Given the description of an element on the screen output the (x, y) to click on. 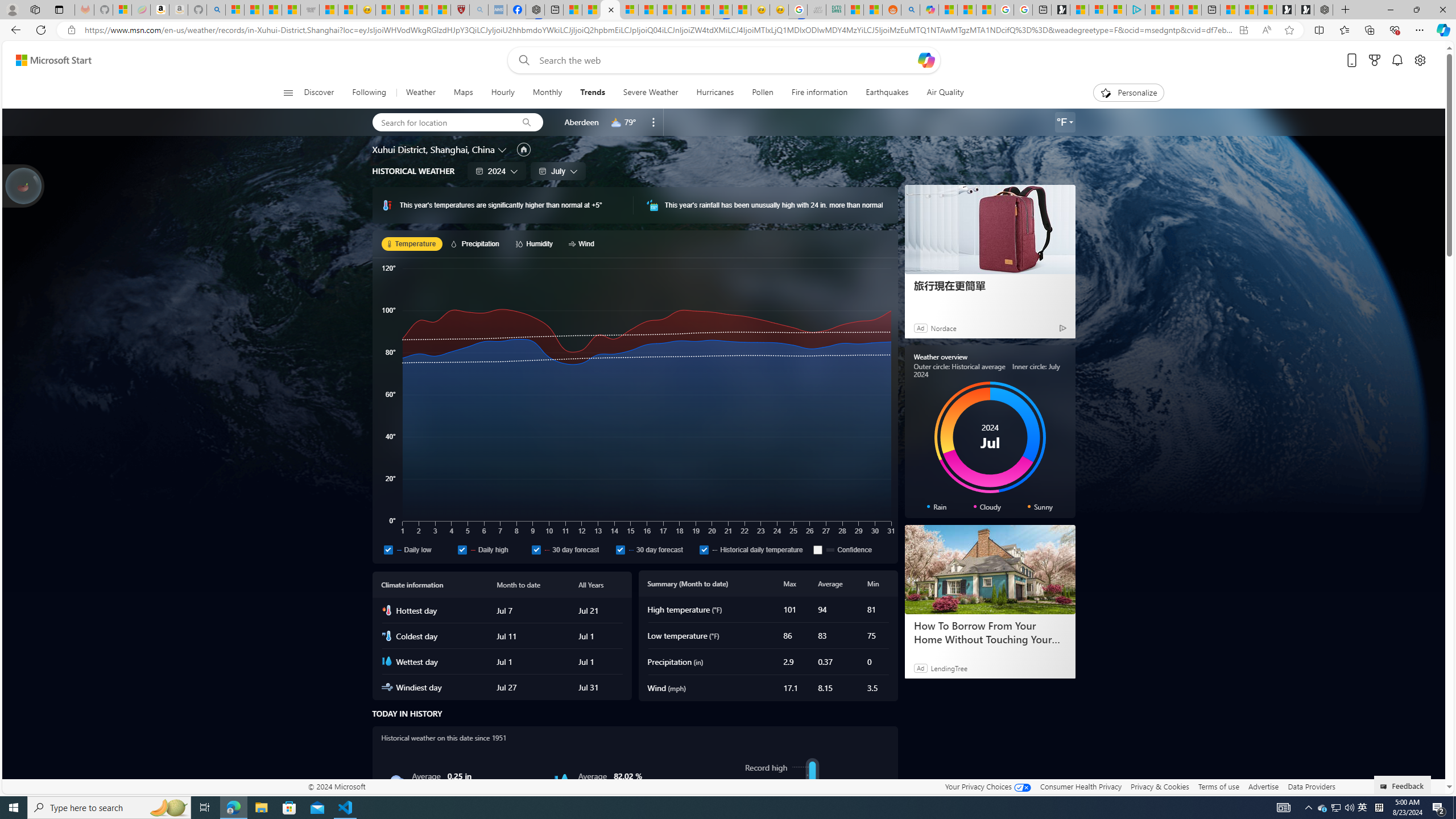
Temperature (411, 243)
Monthly (547, 92)
30 day forecast (619, 549)
Maps (462, 92)
Your Privacy Choices (987, 785)
Daily high (462, 549)
Your Privacy Choices (987, 786)
Weather settings (1064, 122)
Fire information (819, 92)
